Given the description of an element on the screen output the (x, y) to click on. 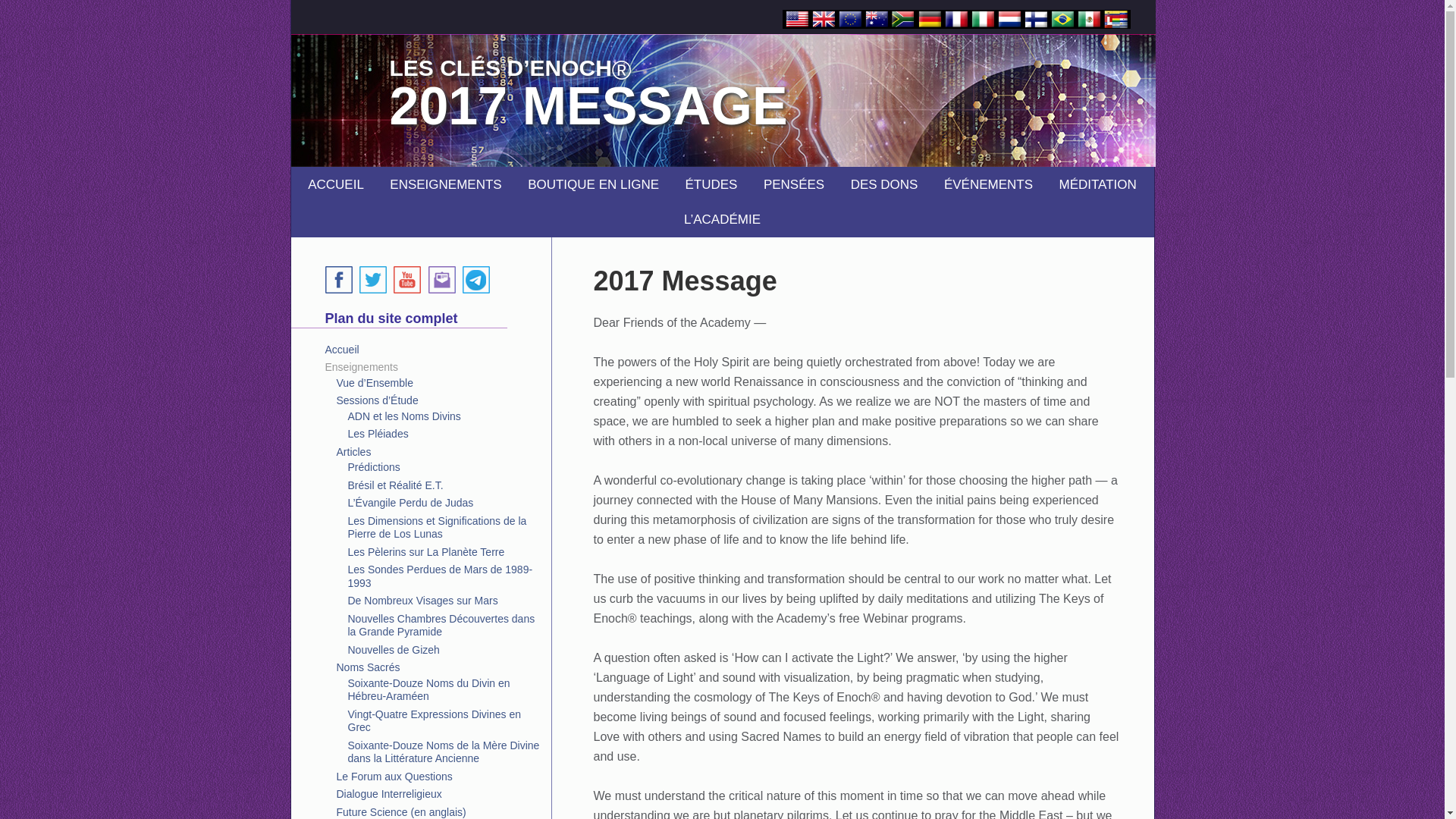
DES DONS (885, 184)
BOUTIQUE EN LIGNE (592, 184)
ACCUEIL (336, 184)
